Given the description of an element on the screen output the (x, y) to click on. 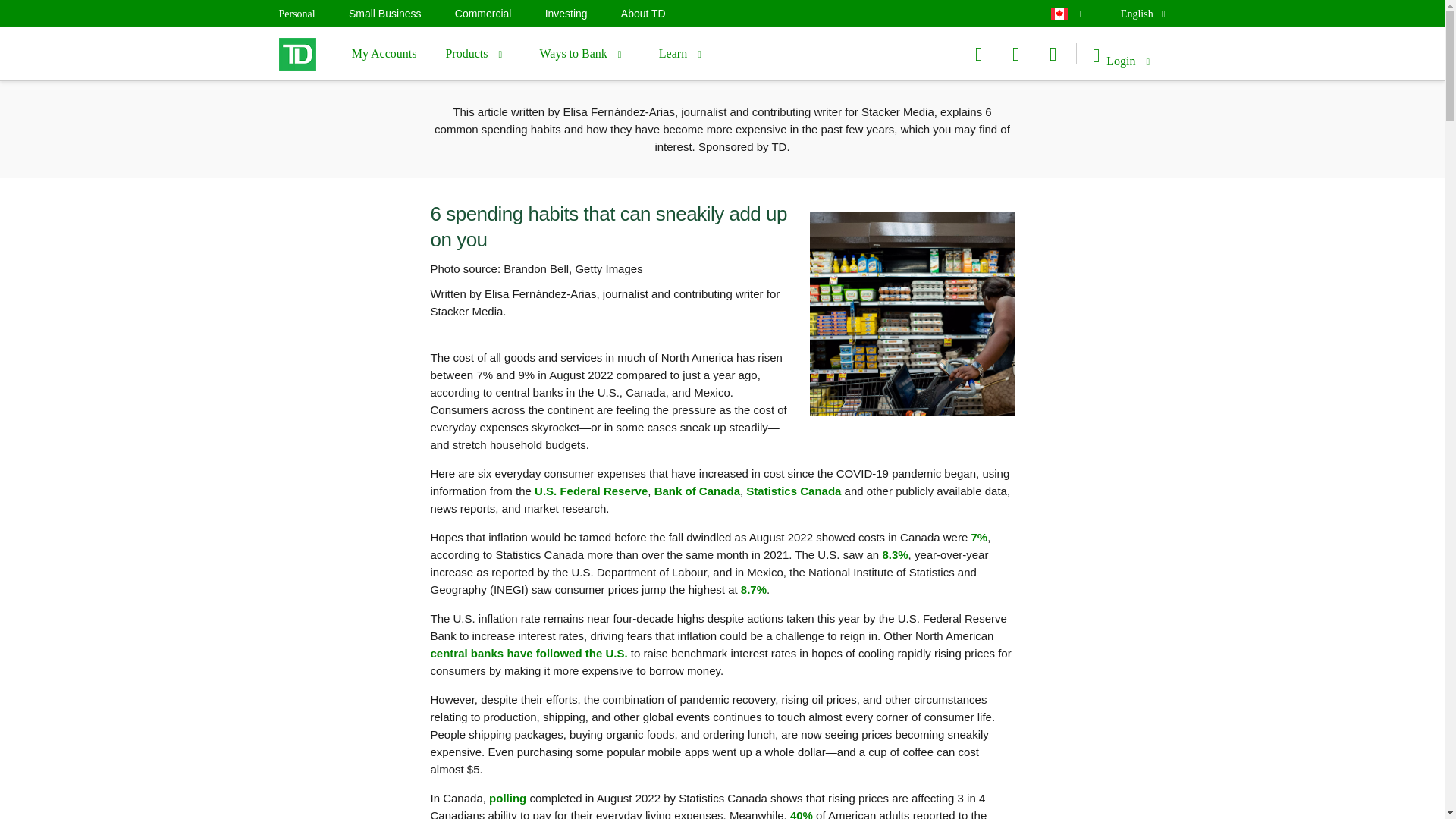
Ways to Bank (583, 53)
About TD (643, 13)
Commercial (1140, 13)
Products (483, 13)
Select Country (478, 53)
Learn (1063, 13)
Small Business (684, 53)
Personal (385, 13)
